Given the description of an element on the screen output the (x, y) to click on. 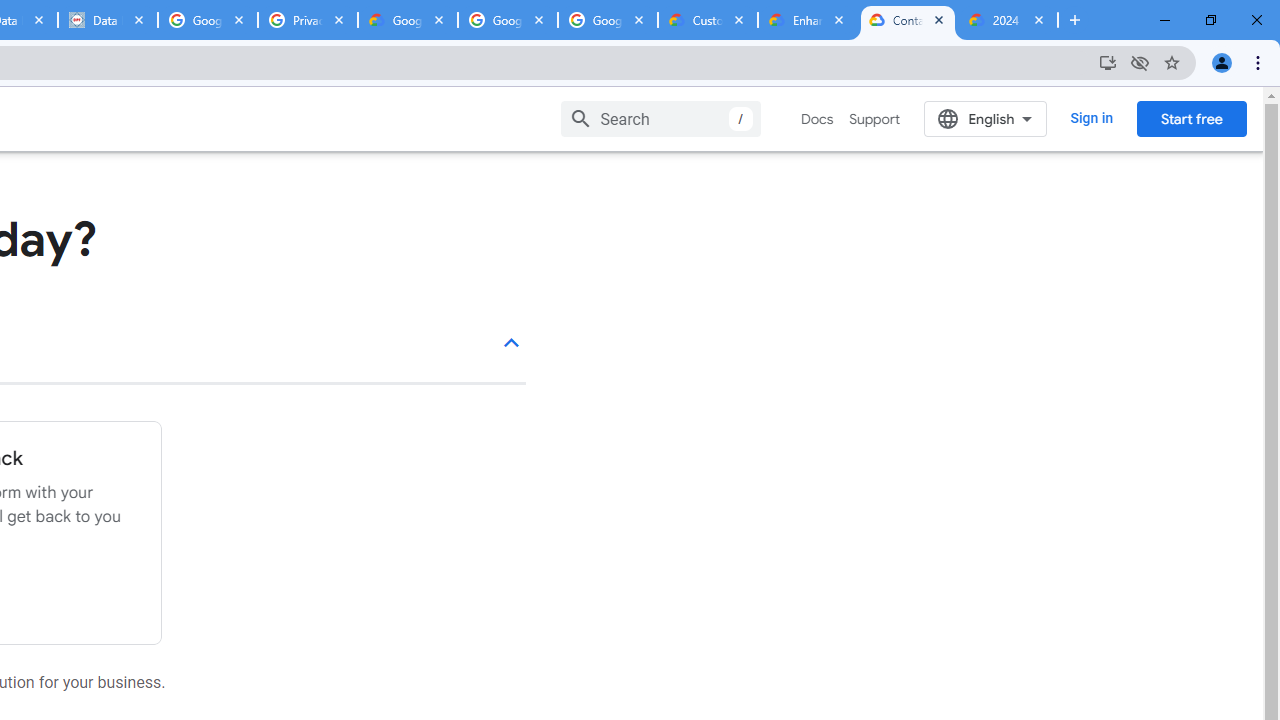
You (1221, 62)
Docs (817, 119)
Bookmark this tab (1171, 62)
Google Workspace - Specific Terms (508, 20)
Google Workspace - Specific Terms (607, 20)
Google Cloud Terms Directory | Google Cloud (408, 20)
New Tab (1075, 20)
Third-party cookies blocked (1139, 62)
Start free (1191, 118)
